Given the description of an element on the screen output the (x, y) to click on. 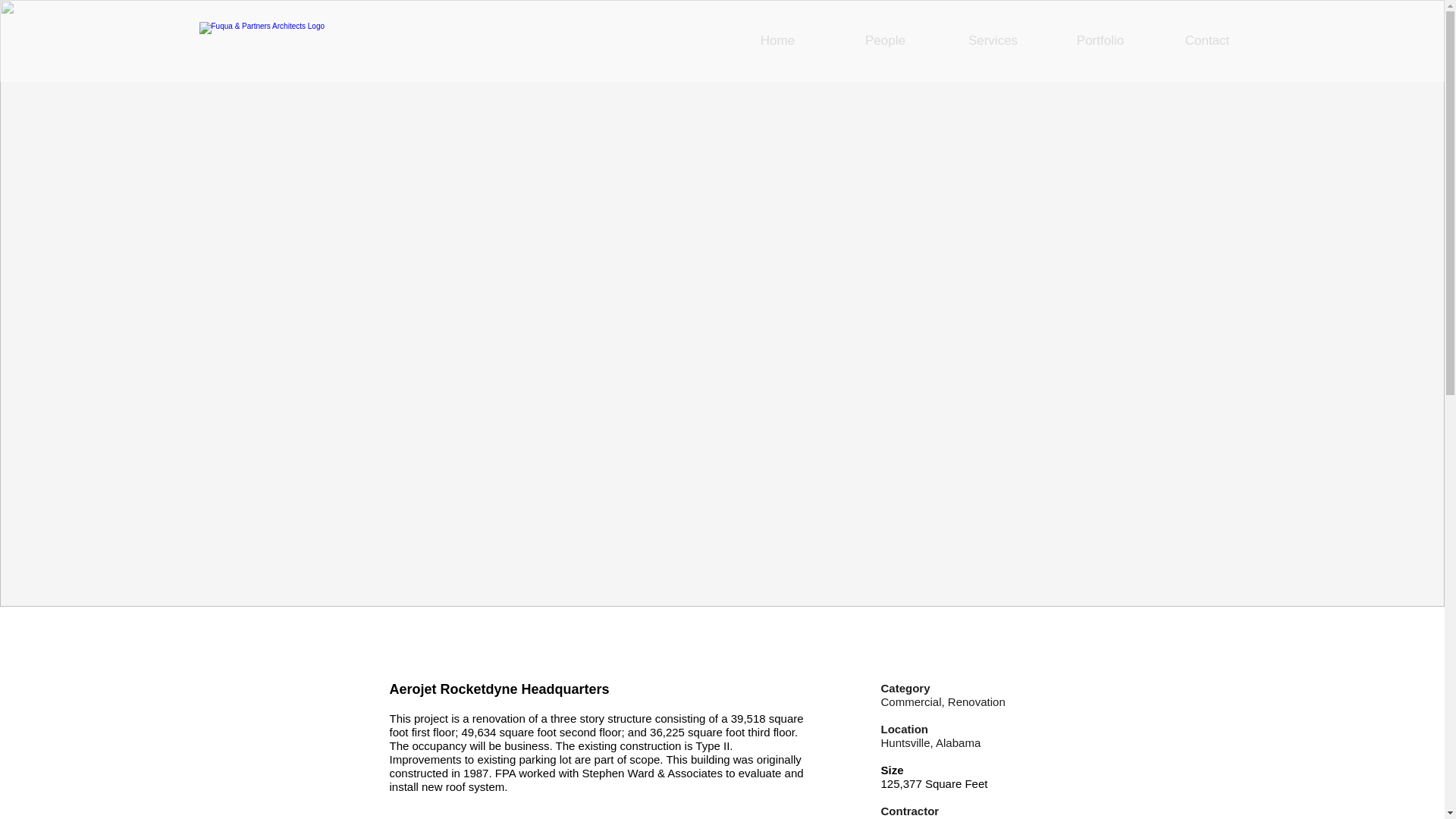
Contact (1207, 40)
Portfolio (1099, 40)
Services (992, 40)
Home (777, 40)
People (885, 40)
